Given the description of an element on the screen output the (x, y) to click on. 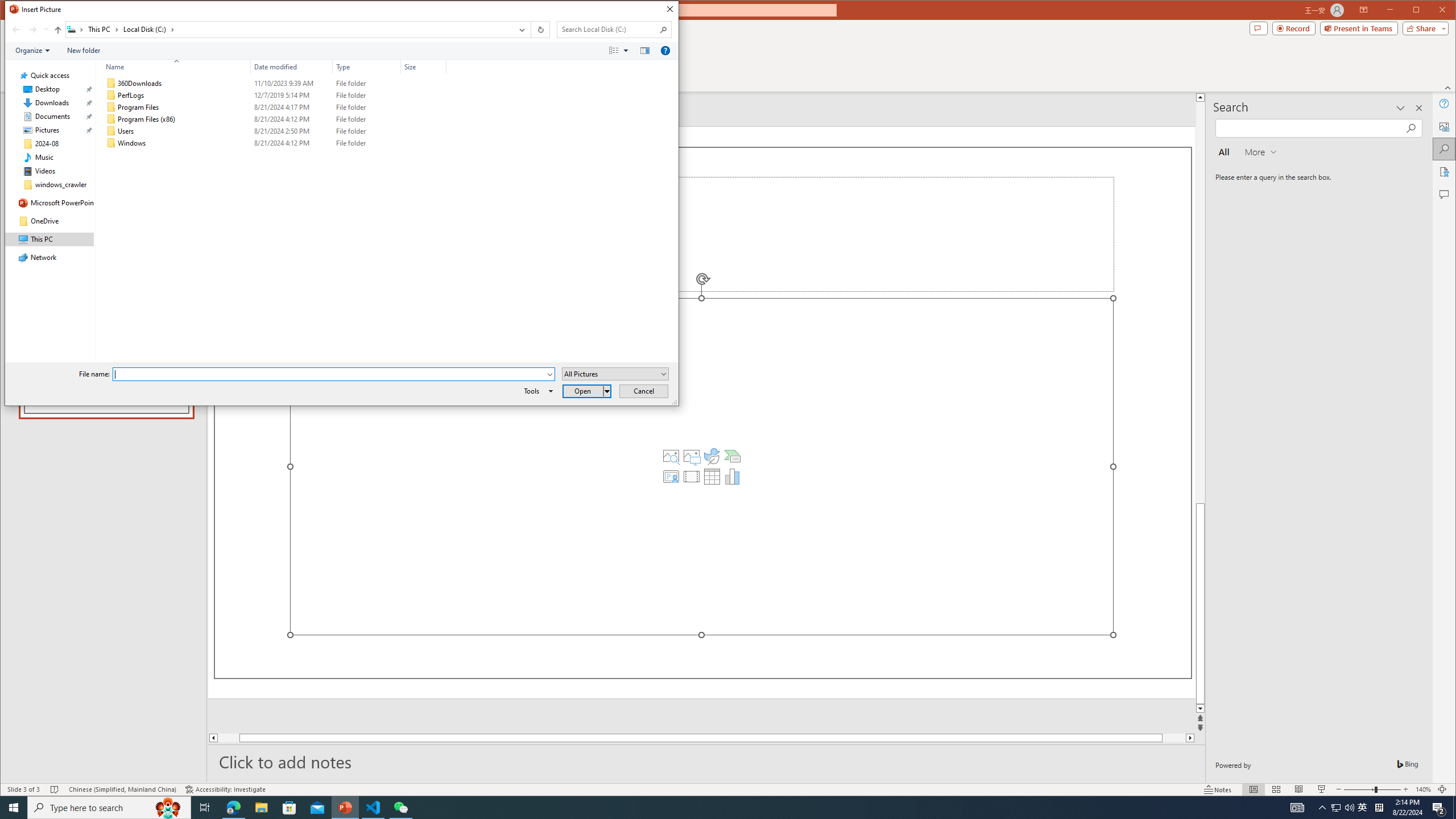
Back (Alt + Left Arrow) (15, 29)
Zoom 140% (1422, 789)
Size (423, 66)
View Slider (626, 50)
Name (183, 142)
Filter dropdown (440, 66)
Type (366, 66)
